Given the description of an element on the screen output the (x, y) to click on. 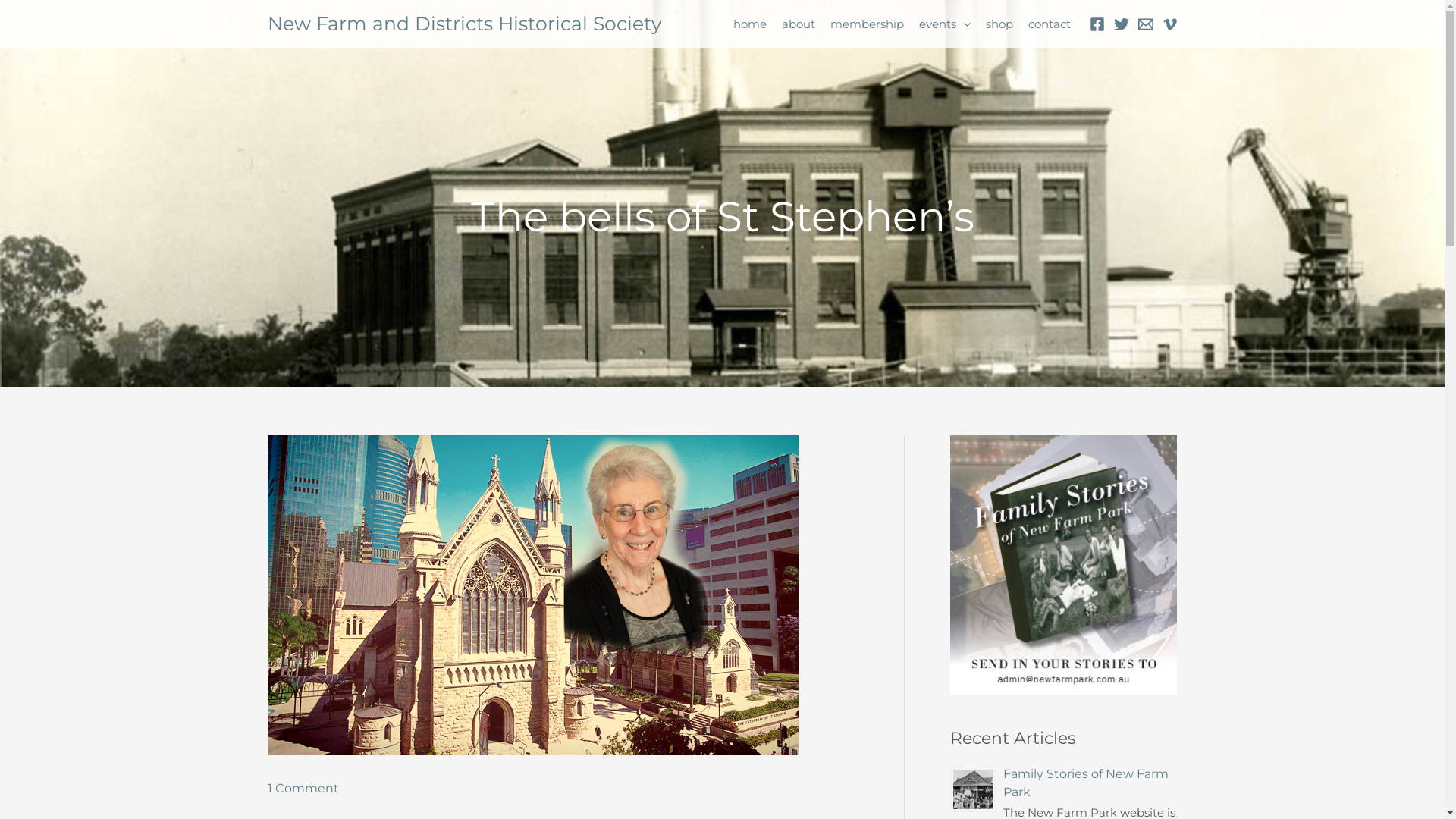
contact Element type: text (1044, 23)
membership Element type: text (863, 23)
shop Element type: text (994, 23)
Family Stories of New Farm Park Element type: text (1084, 782)
about Element type: text (794, 23)
New Farm and Districts Historical Society Element type: text (463, 23)
events Element type: text (939, 23)
1 Comment Element type: text (302, 788)
home Element type: text (745, 23)
